Given the description of an element on the screen output the (x, y) to click on. 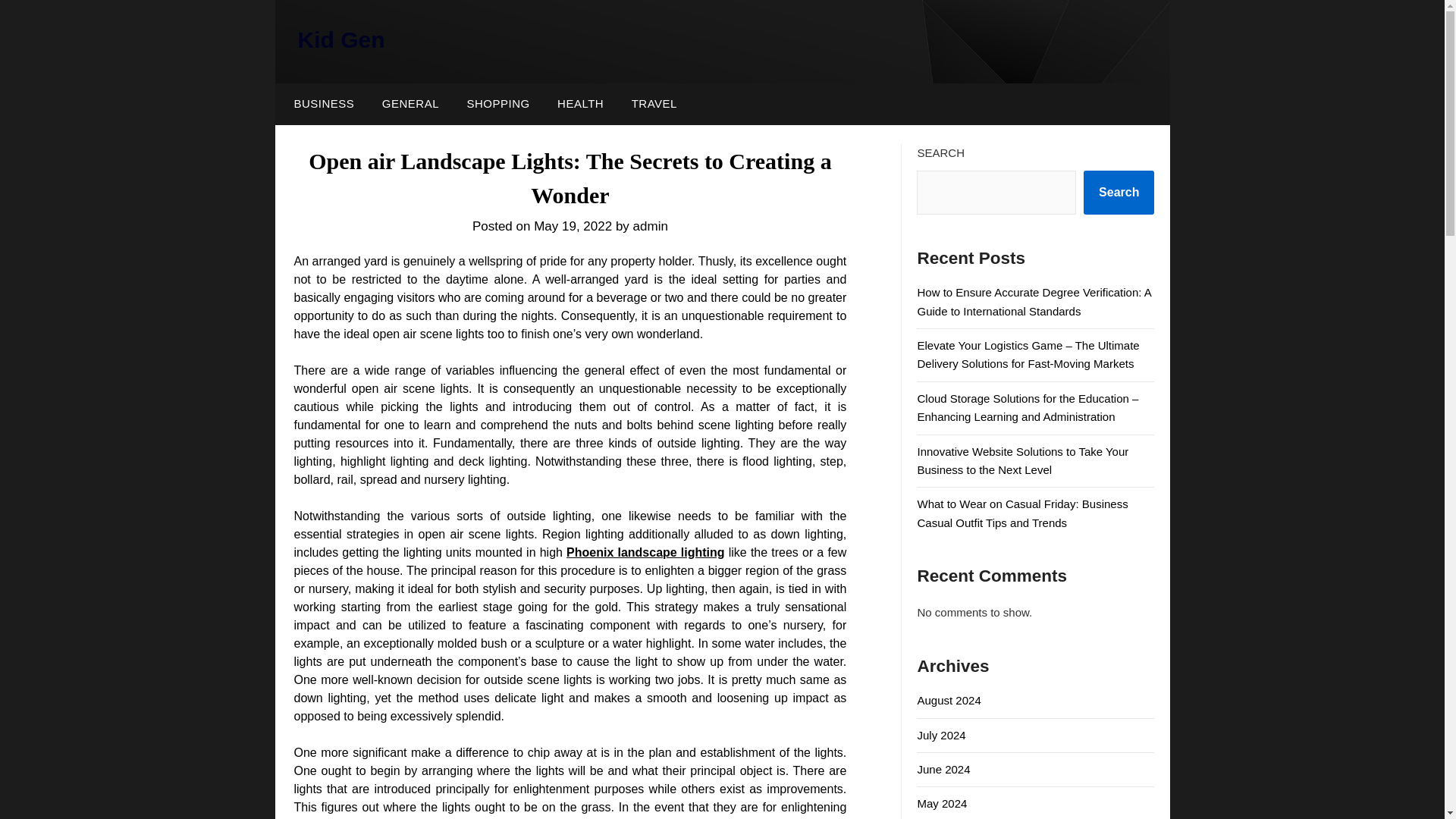
SHOPPING (497, 103)
May 2024 (941, 802)
Search (1118, 192)
August 2024 (948, 699)
July 2024 (941, 735)
BUSINESS (320, 103)
Phoenix landscape lighting (645, 552)
